Given the description of an element on the screen output the (x, y) to click on. 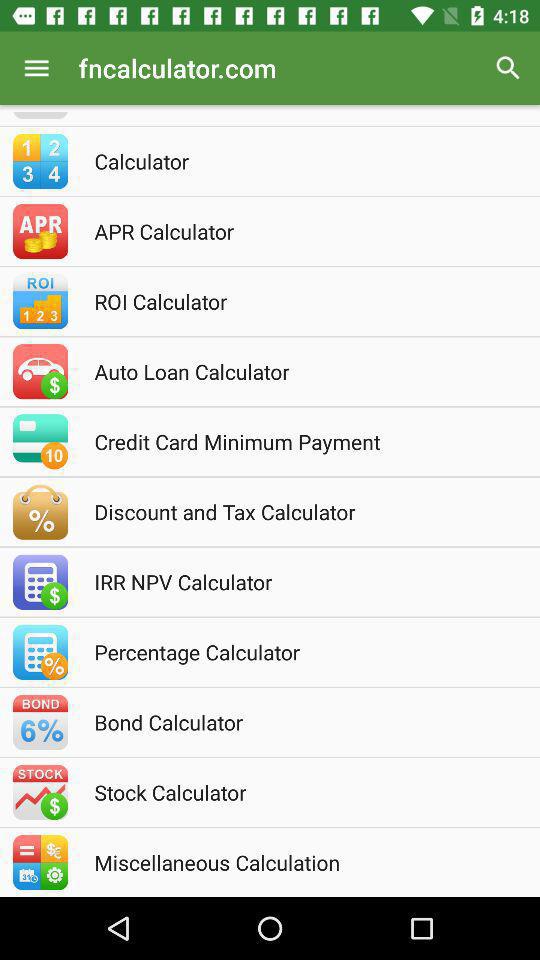
launch irr npv calculator (297, 581)
